Given the description of an element on the screen output the (x, y) to click on. 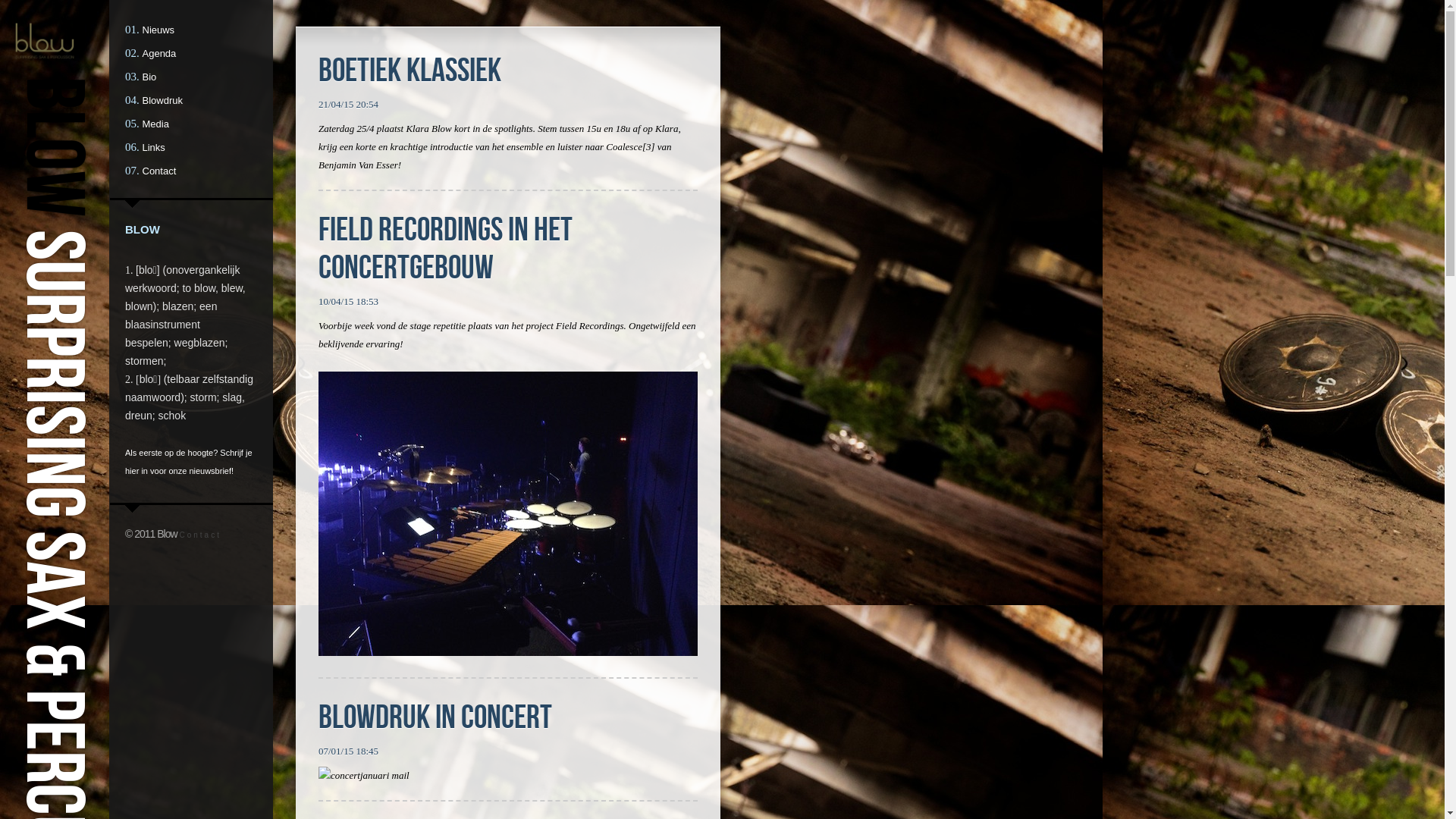
Media Element type: text (155, 123)
Blowdruk Element type: text (162, 100)
Nieuws Element type: text (158, 29)
hier Element type: text (131, 470)
Bio Element type: text (149, 76)
Links Element type: text (153, 147)
Contact Element type: text (199, 534)
Agenda Element type: text (159, 53)
Contact Element type: text (159, 170)
